Given the description of an element on the screen output the (x, y) to click on. 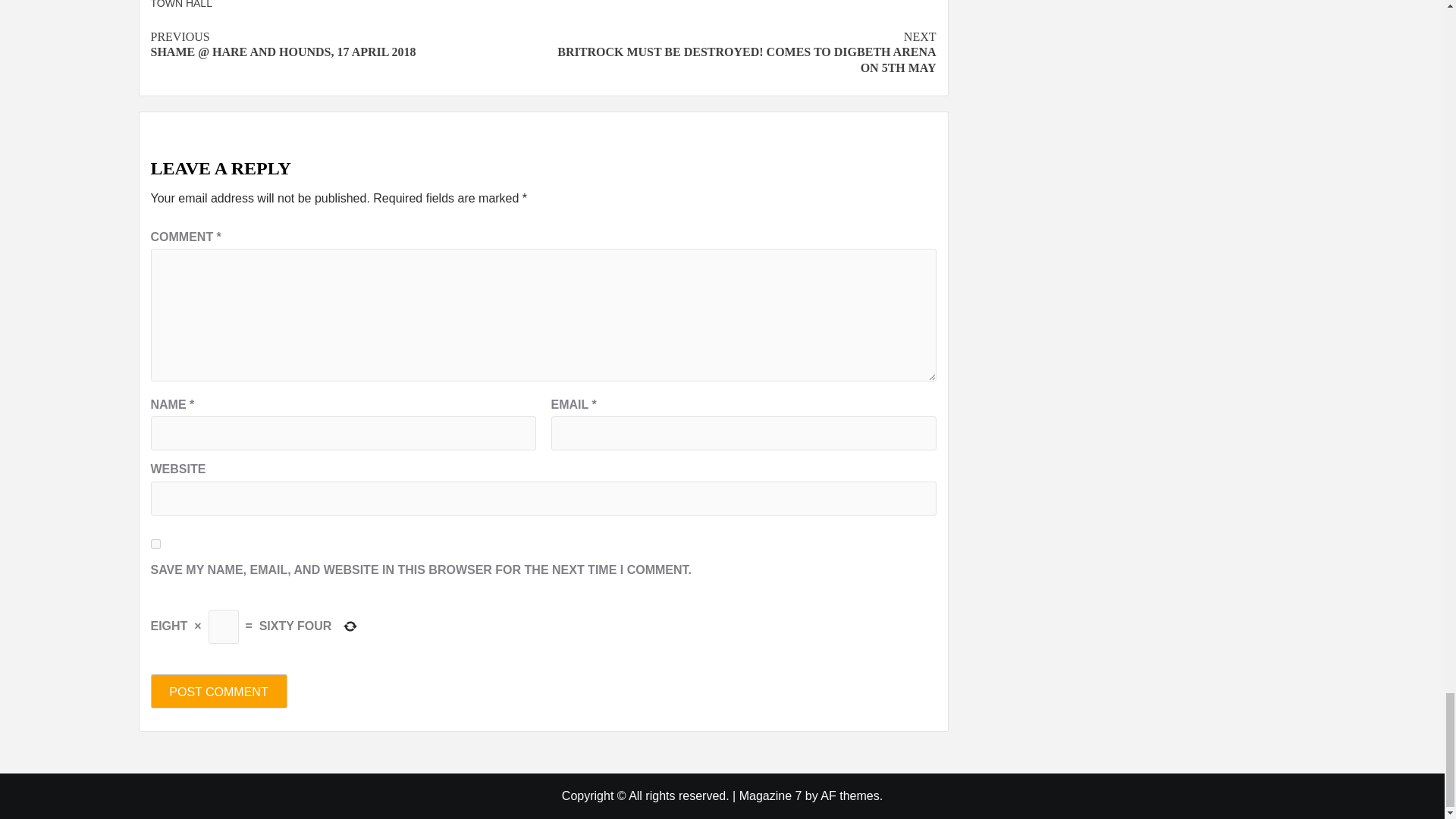
TOWN HALL (180, 4)
Post Comment (217, 691)
Post Comment (217, 691)
